Given the description of an element on the screen output the (x, y) to click on. 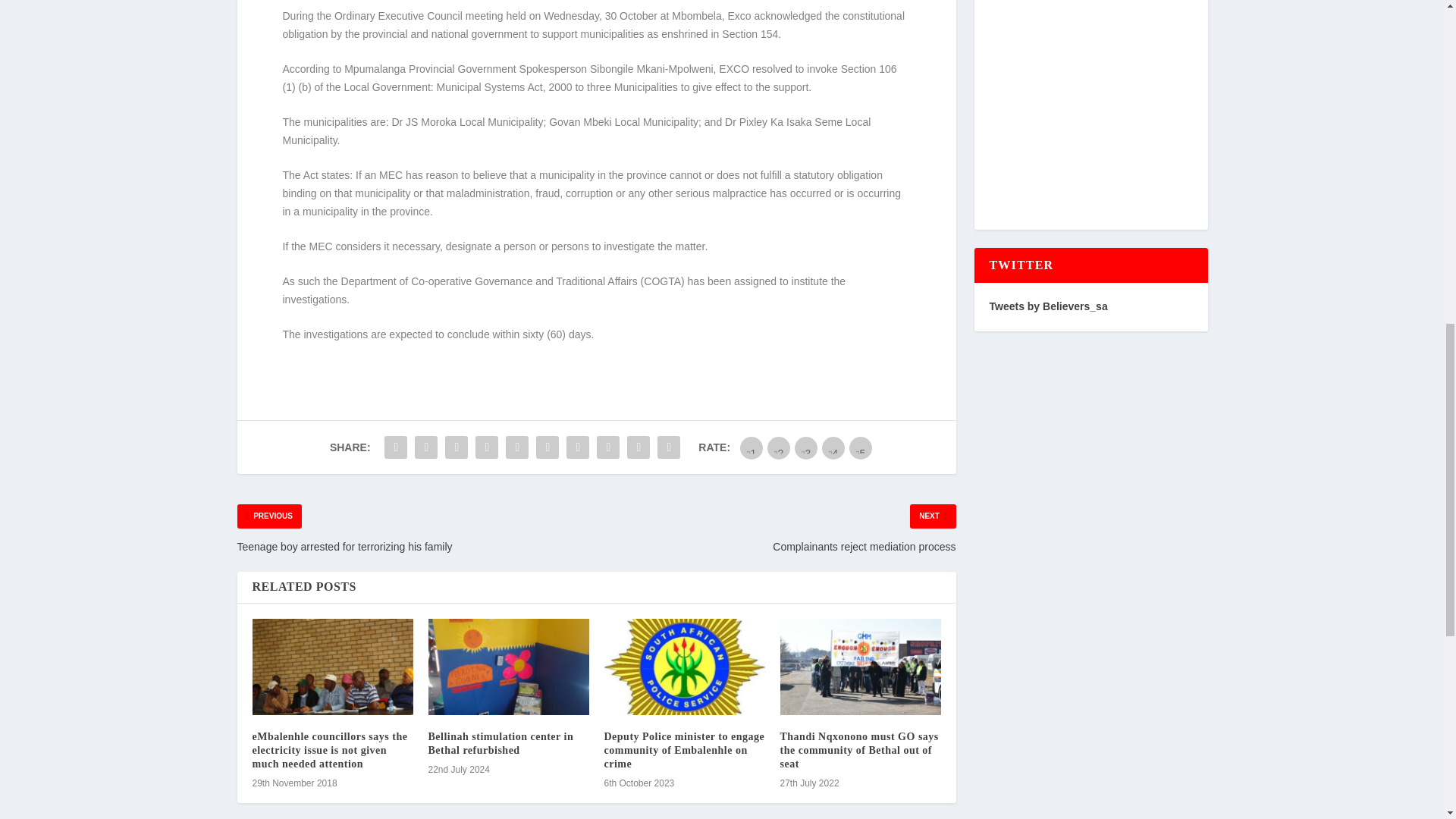
Share "GMM under investigation" via Buffer (577, 447)
Share "GMM under investigation" via Print (668, 447)
Share "GMM under investigation" via Tumblr (486, 447)
Share "GMM under investigation" via Stumbleupon (607, 447)
Share "GMM under investigation" via Pinterest (517, 447)
Share "GMM under investigation" via LinkedIn (547, 447)
Share "GMM under investigation" via Twitter (425, 447)
Share "GMM under investigation" via Facebook (395, 447)
Share "GMM under investigation" via Email (638, 447)
